Given the description of an element on the screen output the (x, y) to click on. 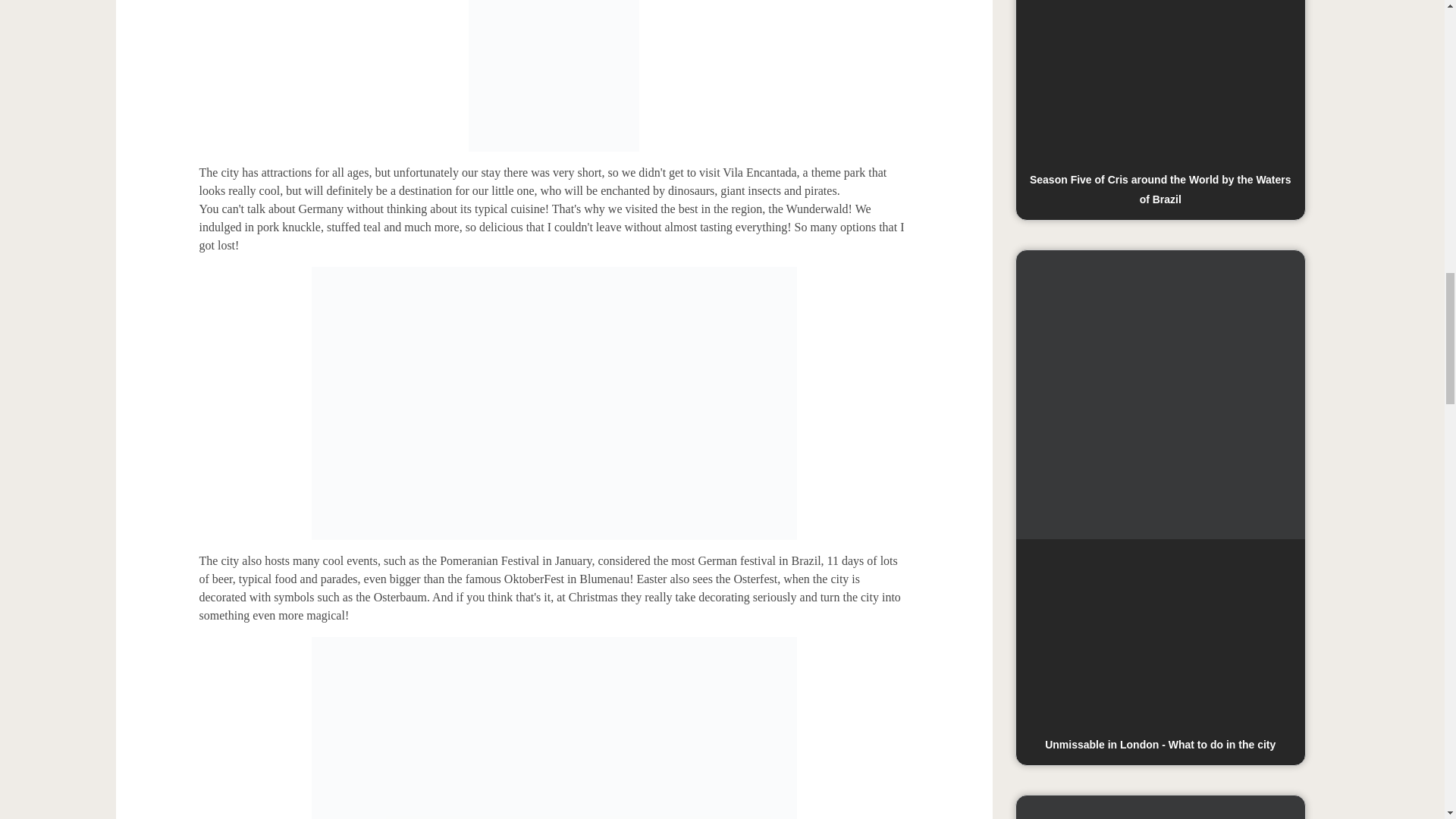
Pomerode 8 - Cris Pelo Mundo (553, 75)
Pomerode 9 - Cris Pelo Mundo (553, 402)
Pomerode 10 - Cris Pelo Mundo (553, 728)
